Given the description of an element on the screen output the (x, y) to click on. 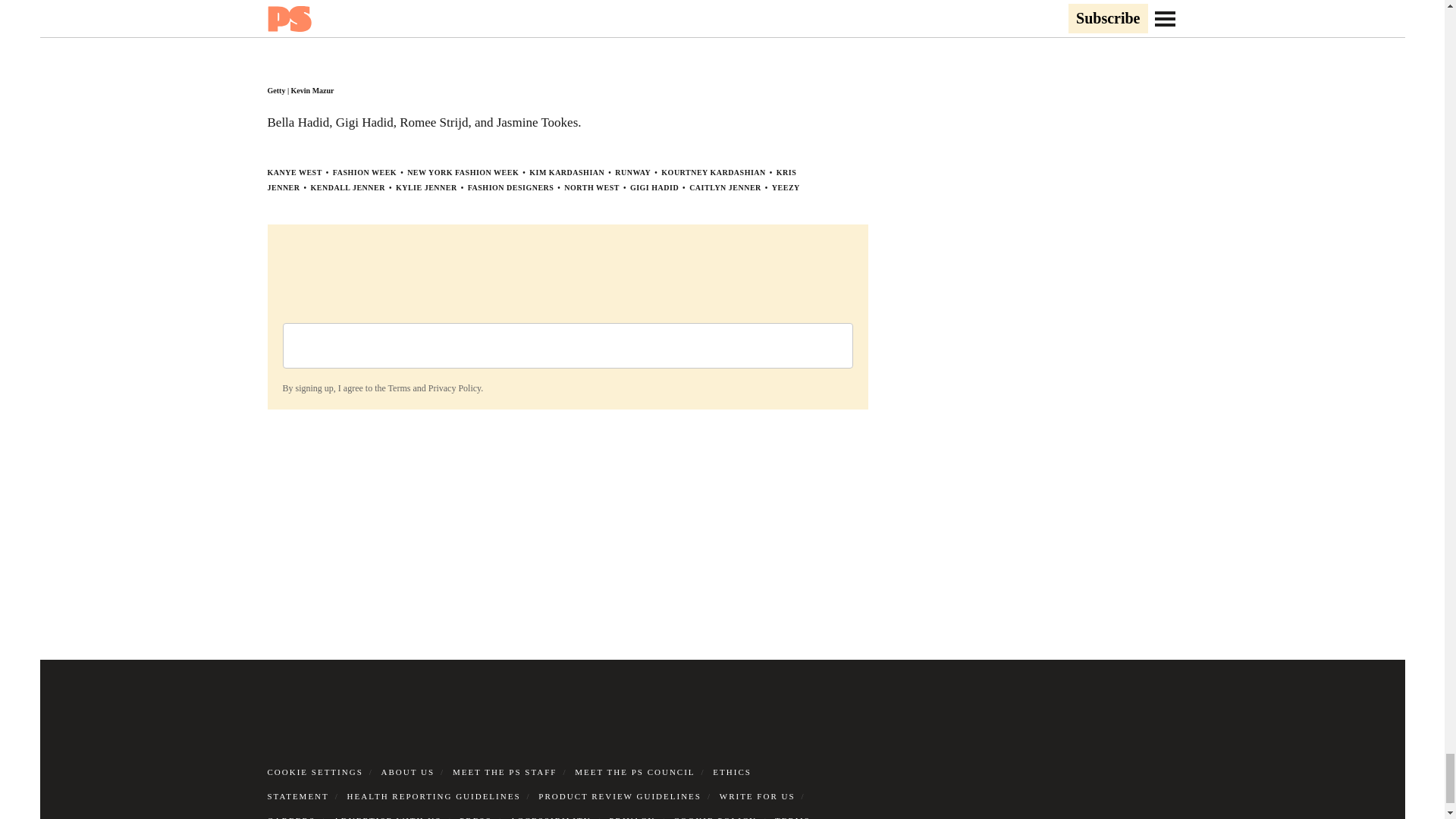
KIM KARDASHIAN (566, 172)
KANYE WEST (293, 172)
NEW YORK FASHION WEEK (462, 172)
FASHION WEEK (364, 172)
RUNWAY (632, 172)
